Given the description of an element on the screen output the (x, y) to click on. 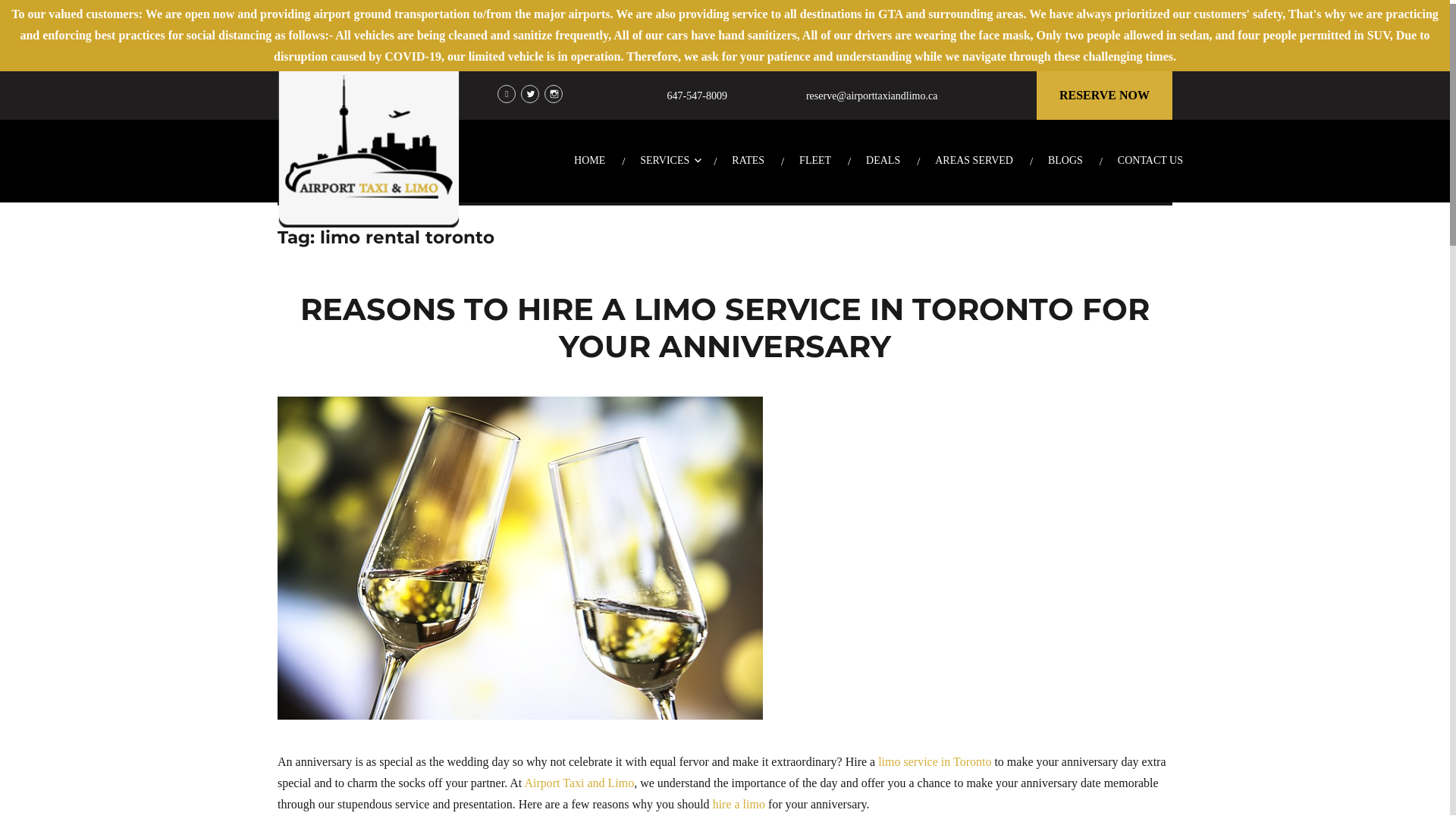
HOME Element type: text (589, 161)
FLEET Element type: text (815, 161)
hire a limo Element type: text (738, 803)
Instagram Element type: text (553, 93)
AREAS SERVED Element type: text (974, 161)
limo service in Toronto Element type: text (934, 761)
Airport Taxi and Limo Element type: text (578, 782)
BLOGS Element type: text (1065, 161)
647-547-8009 Element type: text (697, 95)
SERVICES Element type: text (668, 161)
Twitter Element type: text (529, 93)
CONTACT US Element type: text (1150, 161)
RESERVE NOW Element type: text (1104, 95)
reserve@airporttaxiandlimo.ca Element type: text (871, 95)
RATES Element type: text (747, 161)
DEALS Element type: text (883, 161)
facebook Element type: text (506, 93)
